Given the description of an element on the screen output the (x, y) to click on. 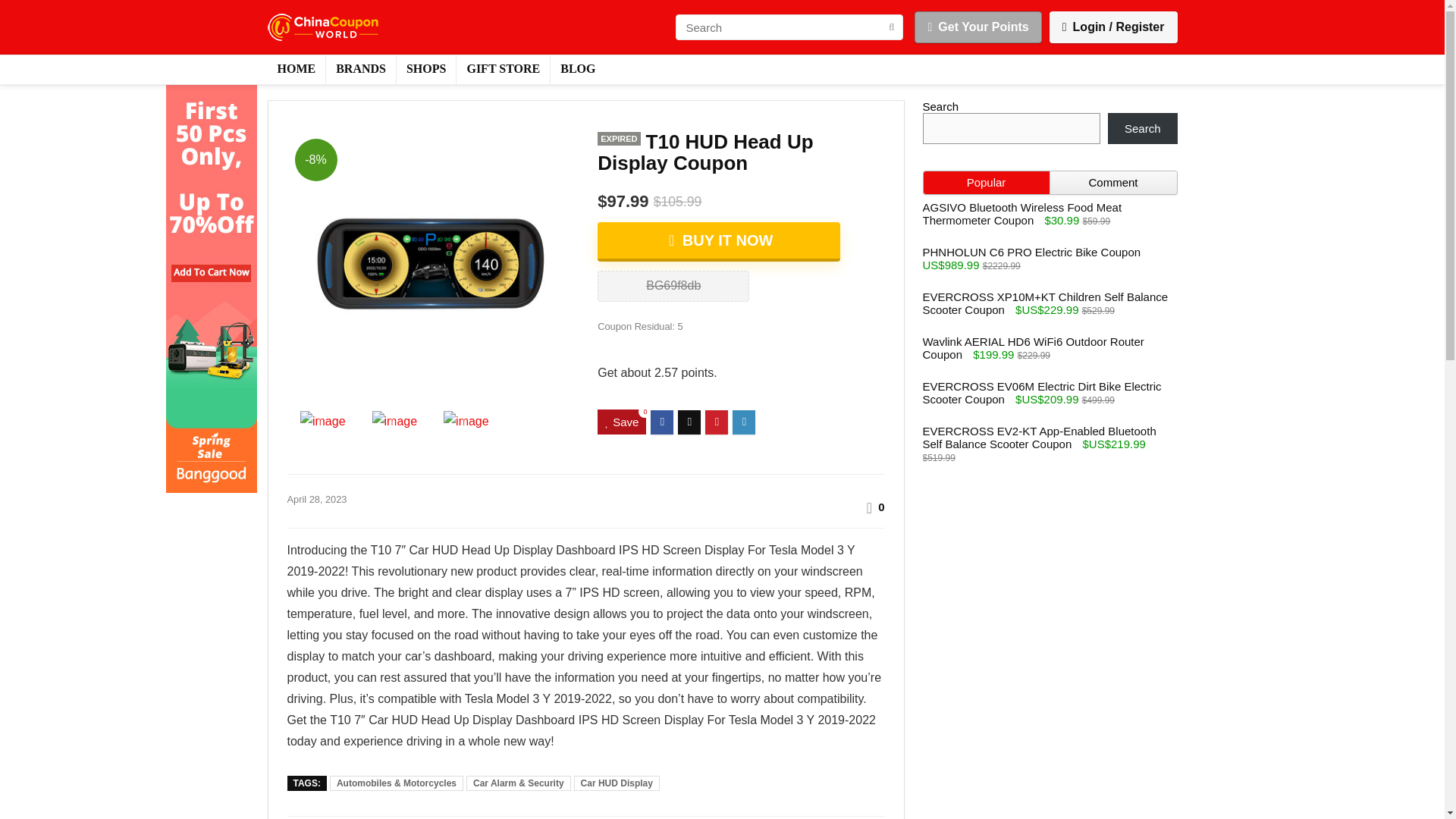
EVERCROSS EV06M Electric Dirt Bike Electric Scooter Coupon (1040, 392)
BLOG (577, 69)
Search (1142, 128)
Wavlink AERIAL HD6 WiFi6 Outdoor Router Coupon (1031, 347)
BRANDS (361, 69)
PHNHOLUN C6 PRO Electric Bike Coupon (1030, 251)
GIFT STORE (503, 69)
AGSIVO Bluetooth Wireless Food Meat Thermometer Coupon (1021, 213)
Car HUD Display (616, 783)
